Given the description of an element on the screen output the (x, y) to click on. 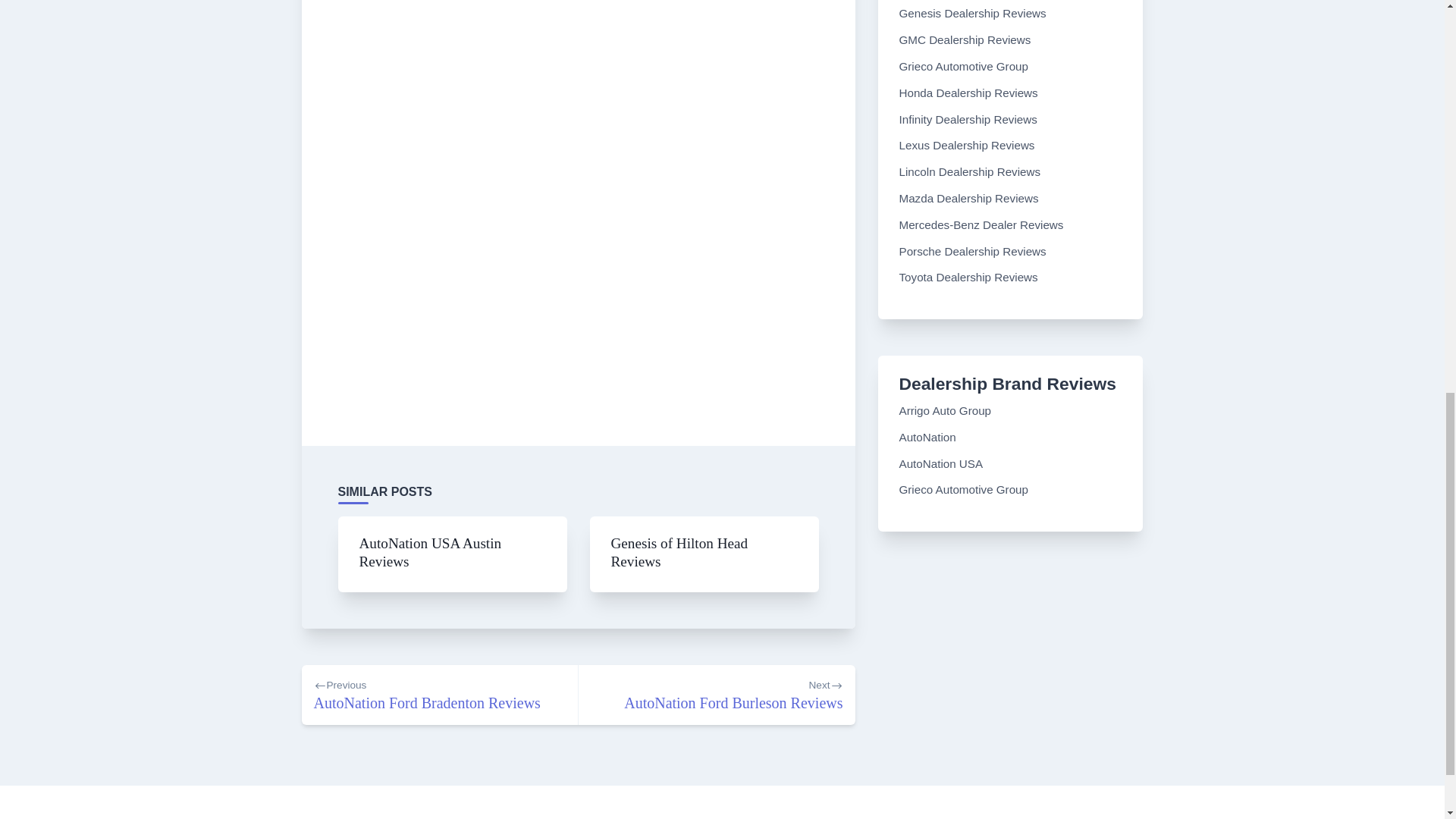
Toyota Dealership Reviews (968, 277)
Grieco Automotive Group (439, 694)
AutoNation USA (964, 65)
Genesis of Hilton Head Reviews (941, 463)
AutoNation USA Austin Reviews (679, 552)
Lexus Dealership Reviews (716, 694)
Lincoln Dealership Reviews (430, 552)
Mercedes-Benz Dealer Reviews (967, 144)
